Given the description of an element on the screen output the (x, y) to click on. 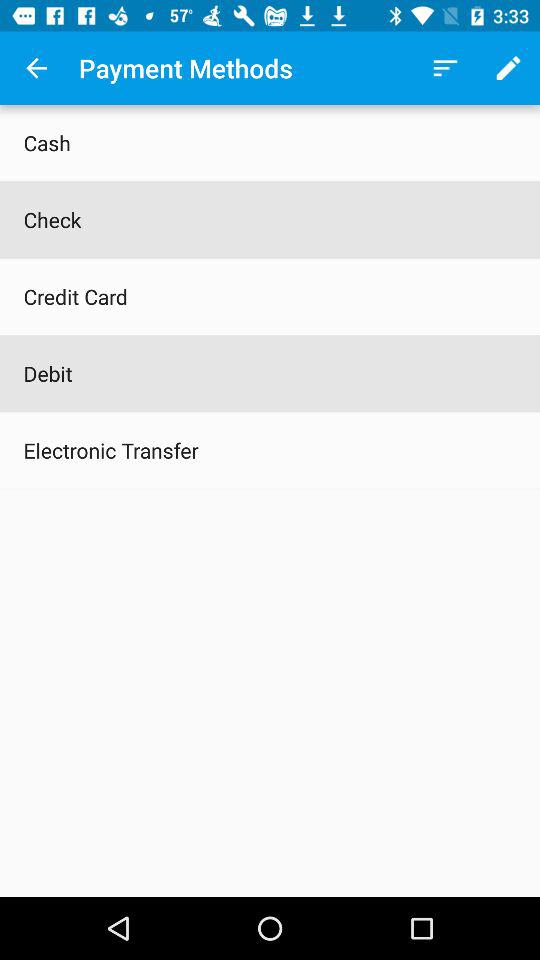
tap icon next to the payment methods icon (444, 67)
